Given the description of an element on the screen output the (x, y) to click on. 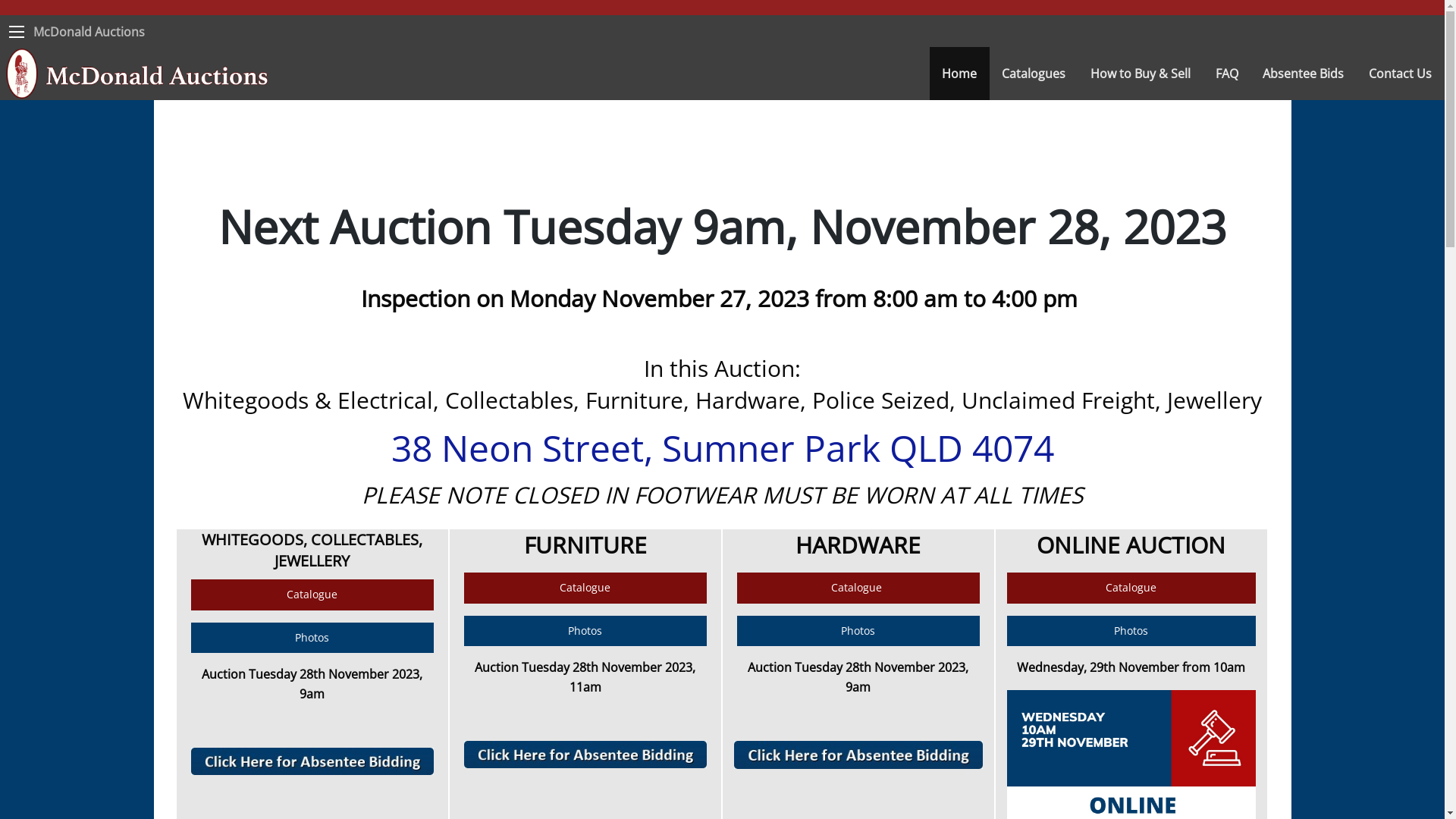
Photos Element type: text (858, 630)
Photos Element type: text (585, 630)
How to Buy & Sell Element type: text (1140, 73)
Photos Element type: text (1131, 630)
Home Element type: text (959, 73)
Catalogue Element type: text (585, 587)
Contact Us Element type: text (1400, 73)
Catalogue Element type: text (312, 594)
Photos Element type: text (312, 637)
Catalogue  Element type: text (858, 587)
Catalogues Element type: text (1033, 73)
FAQ Element type: text (1227, 73)
Absentee Bids Element type: text (1303, 73)
McDonald Auctions Element type: text (88, 31)
Catalogue Element type: text (1131, 587)
38 Neon Street, Sumner Park QLD 4074 Element type: text (722, 447)
